Given the description of an element on the screen output the (x, y) to click on. 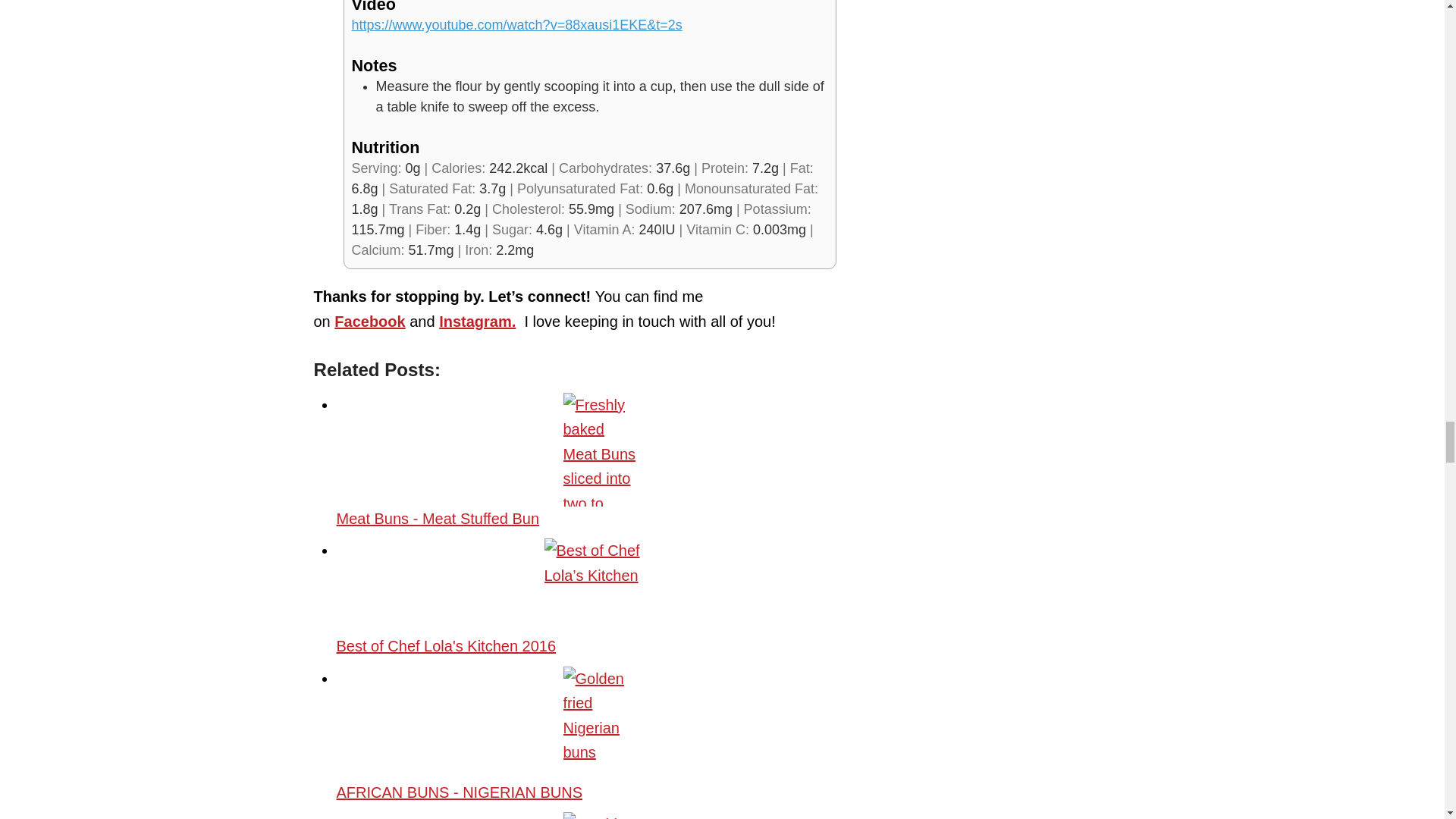
Play video "1 Hour Hot Dog Bread - Easier than you think!" (517, 24)
Best of Chef Lola's Kitchen 2016 (601, 585)
Hot Cross buns - Soft, fluffy, spiced bun (600, 815)
